Given the description of an element on the screen output the (x, y) to click on. 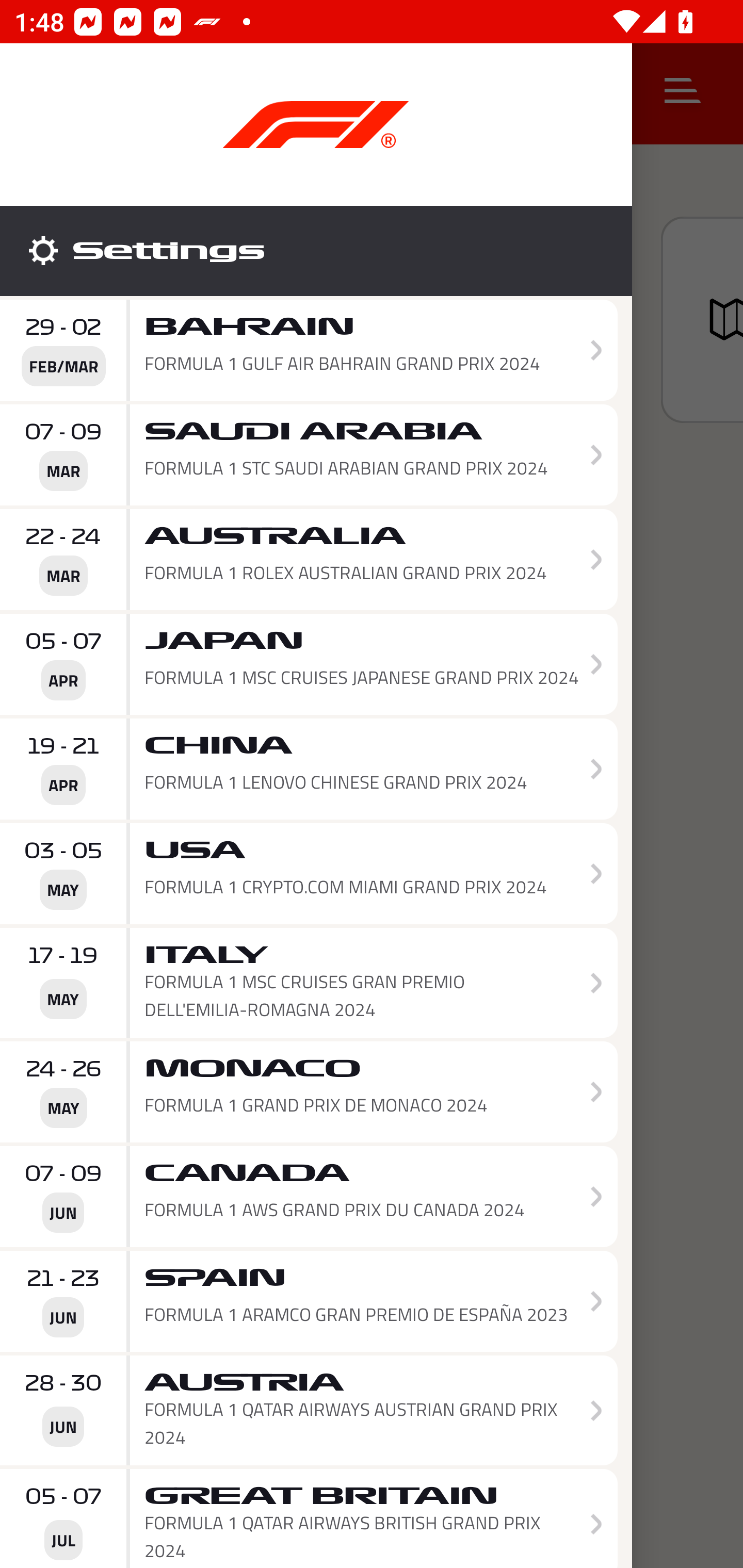
Settings (316, 250)
